Given the description of an element on the screen output the (x, y) to click on. 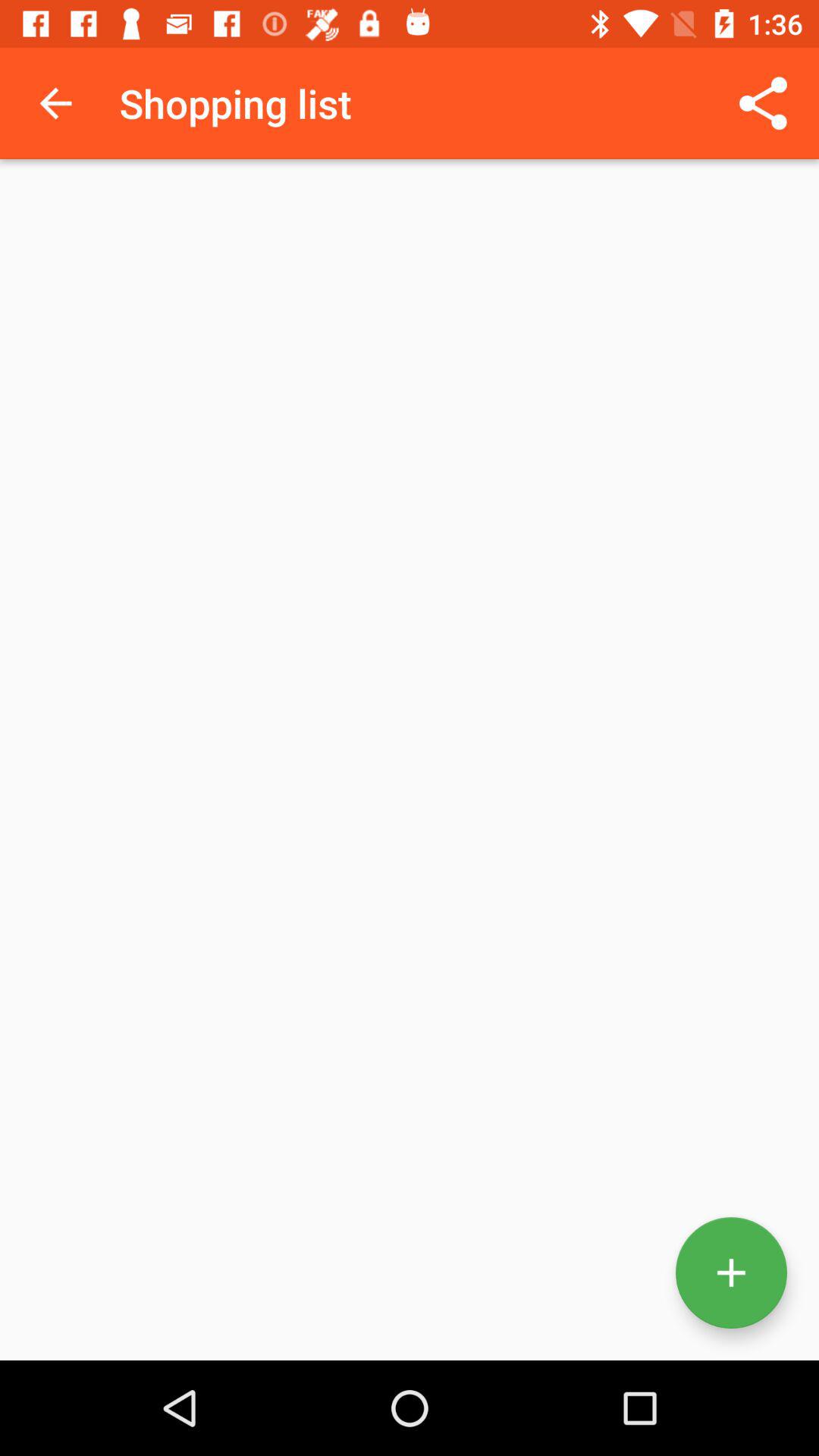
add more items (731, 1272)
